Given the description of an element on the screen output the (x, y) to click on. 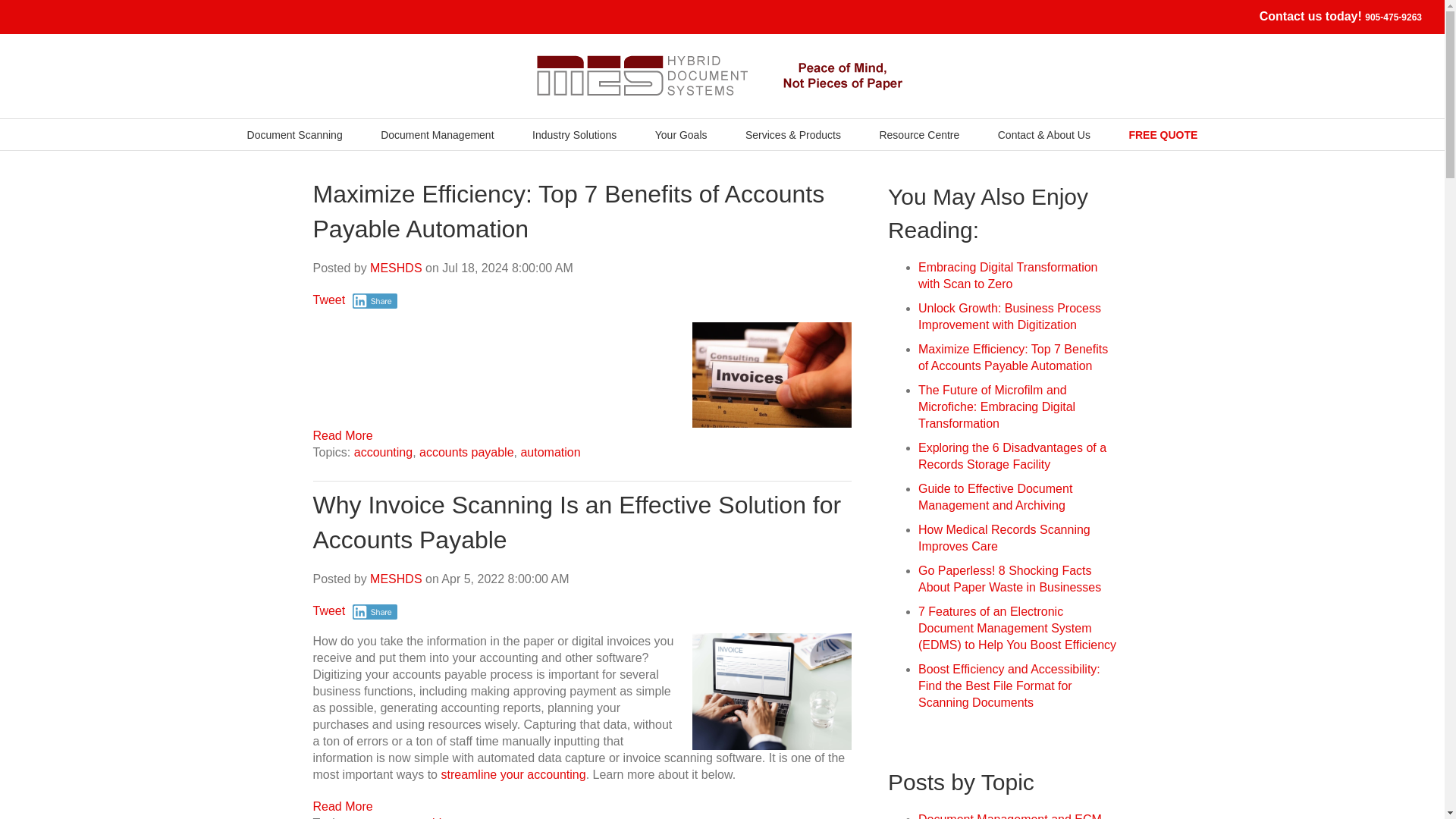
Industry Solutions (573, 133)
Document Scanning (294, 133)
905-475-9263 (1393, 17)
Your Goals (681, 133)
Resource Centre (919, 133)
Document Management (436, 133)
